Given the description of an element on the screen output the (x, y) to click on. 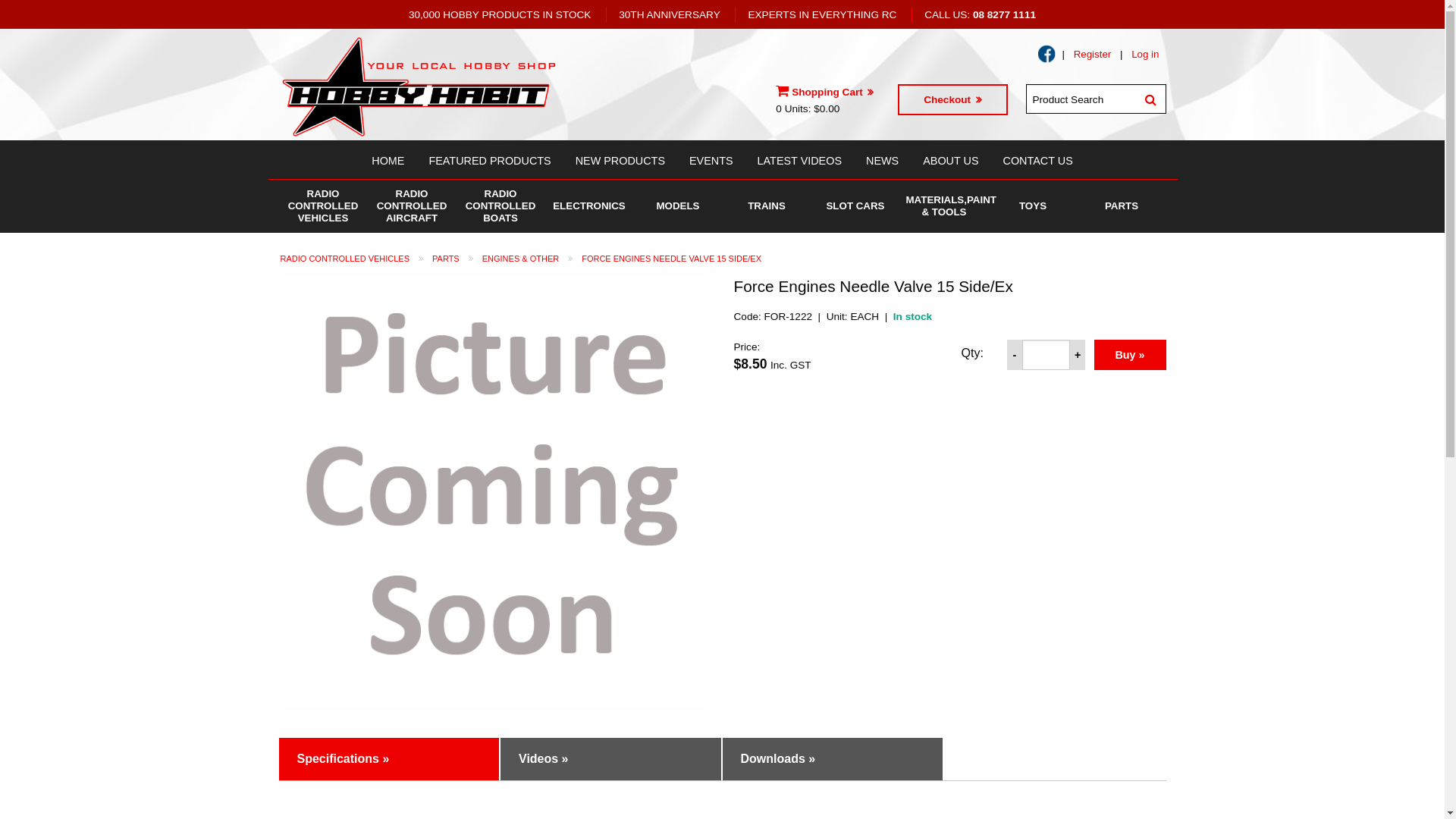
LATEST VIDEOS Element type: text (799, 159)
SLOT CARS Element type: text (855, 205)
CONTACT US Element type: text (1038, 159)
ENGINES & OTHER Element type: text (520, 258)
EVENTS Element type: text (711, 159)
Checkout Element type: text (952, 99)
FORCE ENGINES NEEDLE VALVE 15 SIDE/EX Element type: text (671, 258)
HOME Element type: text (387, 159)
NEW PRODUCTS Element type: text (620, 159)
- Element type: text (1014, 354)
PARTS Element type: text (1120, 205)
PARTS Element type: text (445, 258)
NEWS Element type: text (881, 159)
Register Element type: text (1092, 54)
+ Element type: text (1077, 354)
MODELS Element type: text (677, 205)
RADIO CONTROLLED BOATS Element type: text (500, 205)
  Element type: text (1046, 53)
ABOUT US Element type: text (950, 159)
RADIO CONTROLLED AIRCRAFT Element type: text (411, 205)
ELECTRONICS Element type: text (588, 205)
FEATURED PRODUCTS Element type: text (489, 159)
MATERIALS,PAINT & TOOLS Element type: text (943, 205)
RADIO CONTROLLED VEHICLES Element type: text (323, 205)
TRAINS Element type: text (765, 205)
Shopping Cart Element type: text (824, 91)
RADIO CONTROLLED VEHICLES Element type: text (345, 258)
TOYS Element type: text (1032, 205)
Log in Element type: text (1144, 54)
